Given the description of an element on the screen output the (x, y) to click on. 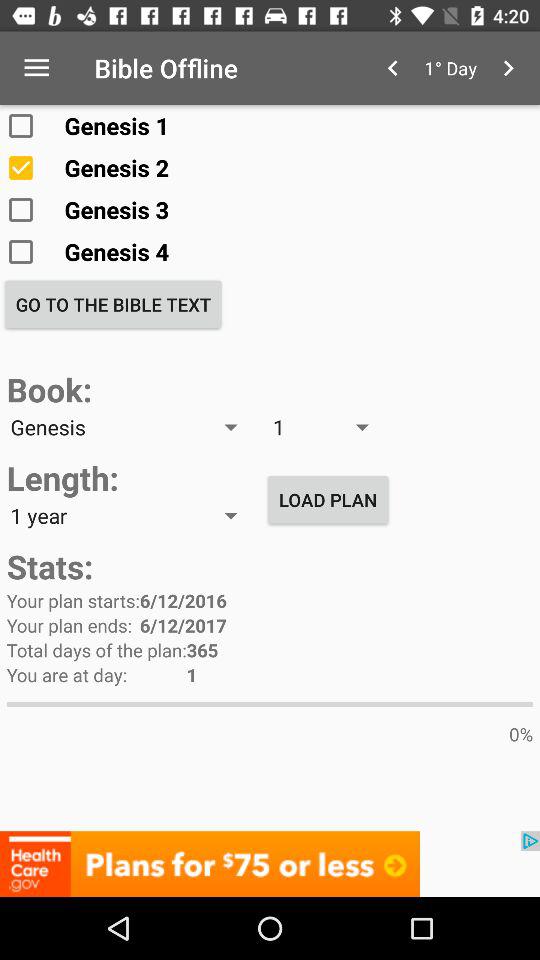
select advertisement (270, 864)
